Given the description of an element on the screen output the (x, y) to click on. 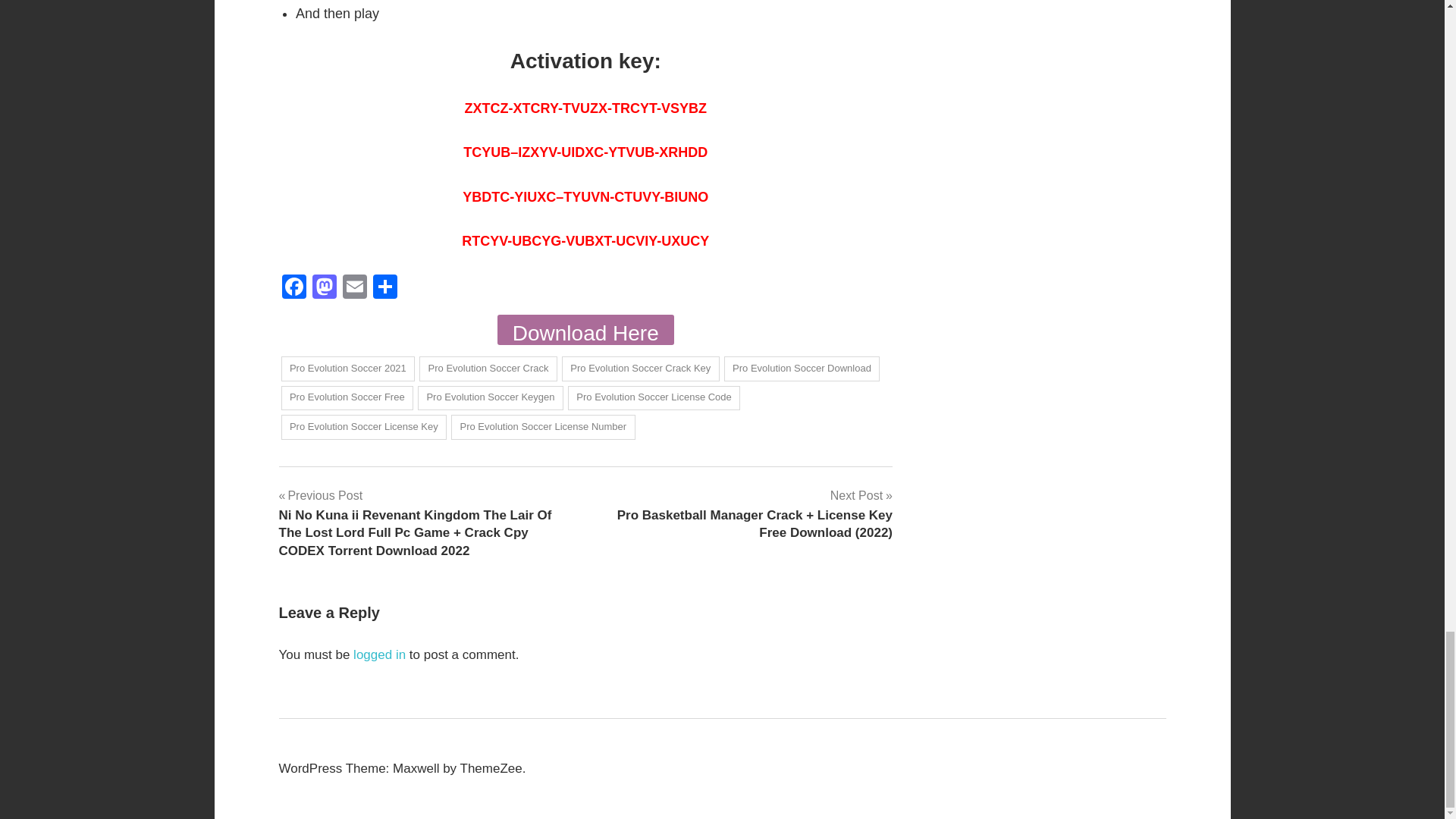
Pro Evolution Soccer License Code (653, 398)
Pro Evolution Soccer Free (347, 398)
Download Here (585, 329)
Pro Evolution Soccer 2021 (347, 368)
Pro Evolution Soccer License Number (542, 426)
Mastodon (323, 287)
Pro Evolution Soccer Keygen (490, 398)
Pro Evolution Soccer License Key (363, 426)
logged in (379, 654)
Facebook (293, 287)
Mastodon (323, 287)
Pro Evolution Soccer Crack (488, 368)
Facebook (293, 287)
Pro Evolution Soccer Download (801, 368)
Email (354, 287)
